Given the description of an element on the screen output the (x, y) to click on. 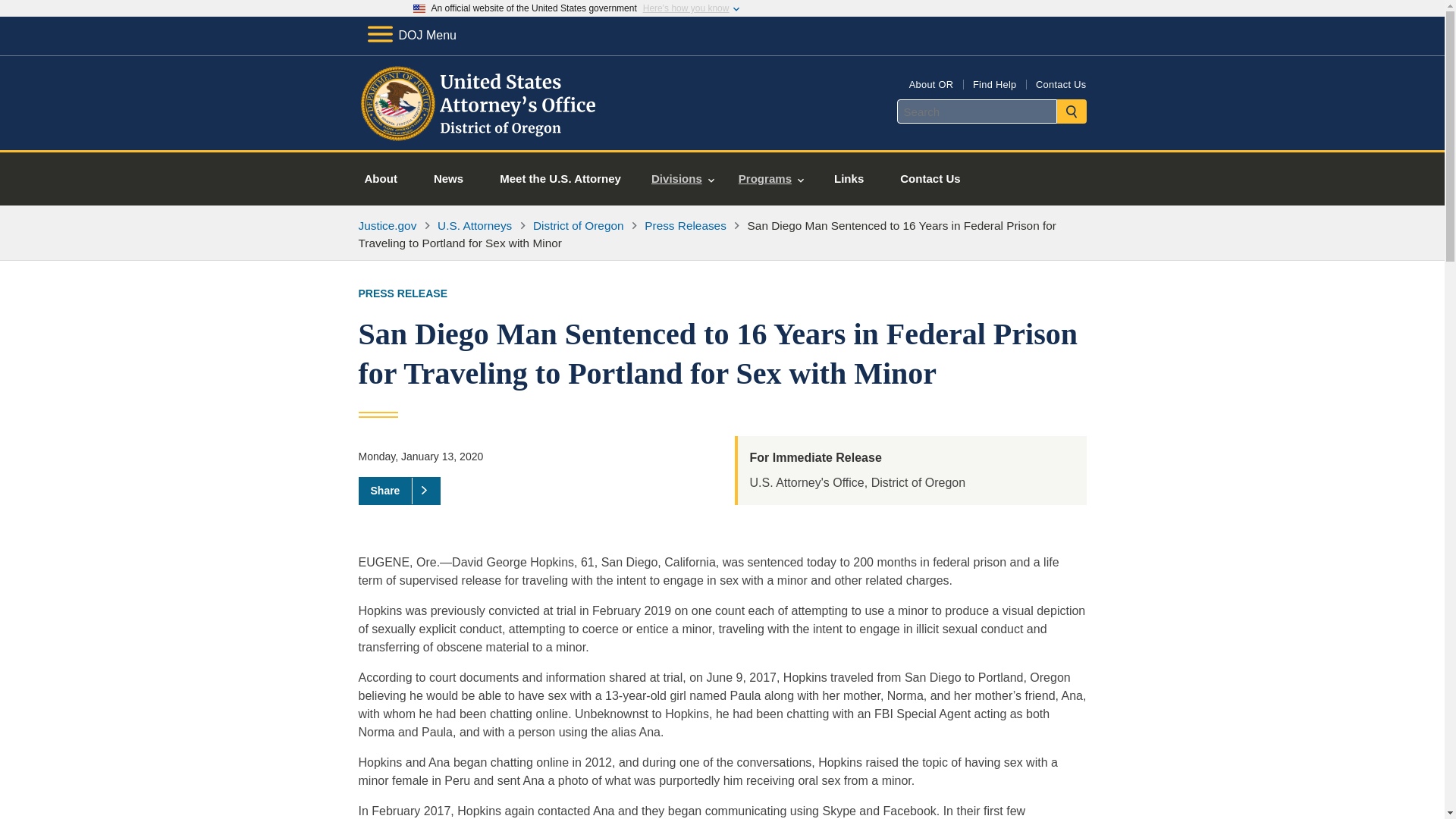
District of Oregon (578, 225)
Home (481, 132)
News (447, 179)
Divisions (682, 179)
DOJ Menu (411, 35)
Justice.gov (387, 225)
Share (398, 490)
U.S. Attorneys (475, 225)
Here's how you know (686, 8)
About OR (930, 84)
